Given the description of an element on the screen output the (x, y) to click on. 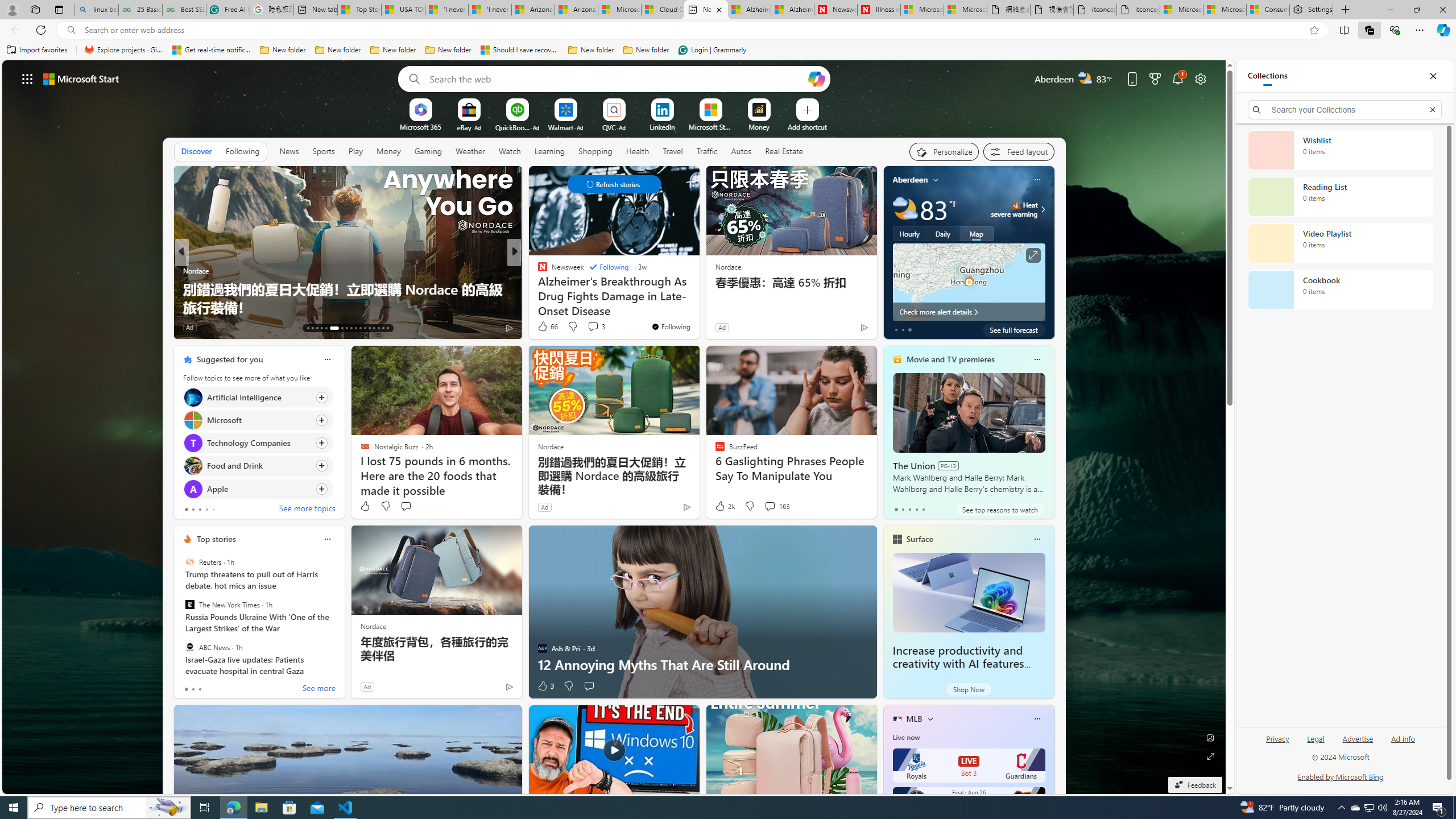
Microsoft start (81, 78)
Travel (672, 151)
Cloud Computing Services | Microsoft Azure (662, 9)
Shopping (594, 151)
